Given the description of an element on the screen output the (x, y) to click on. 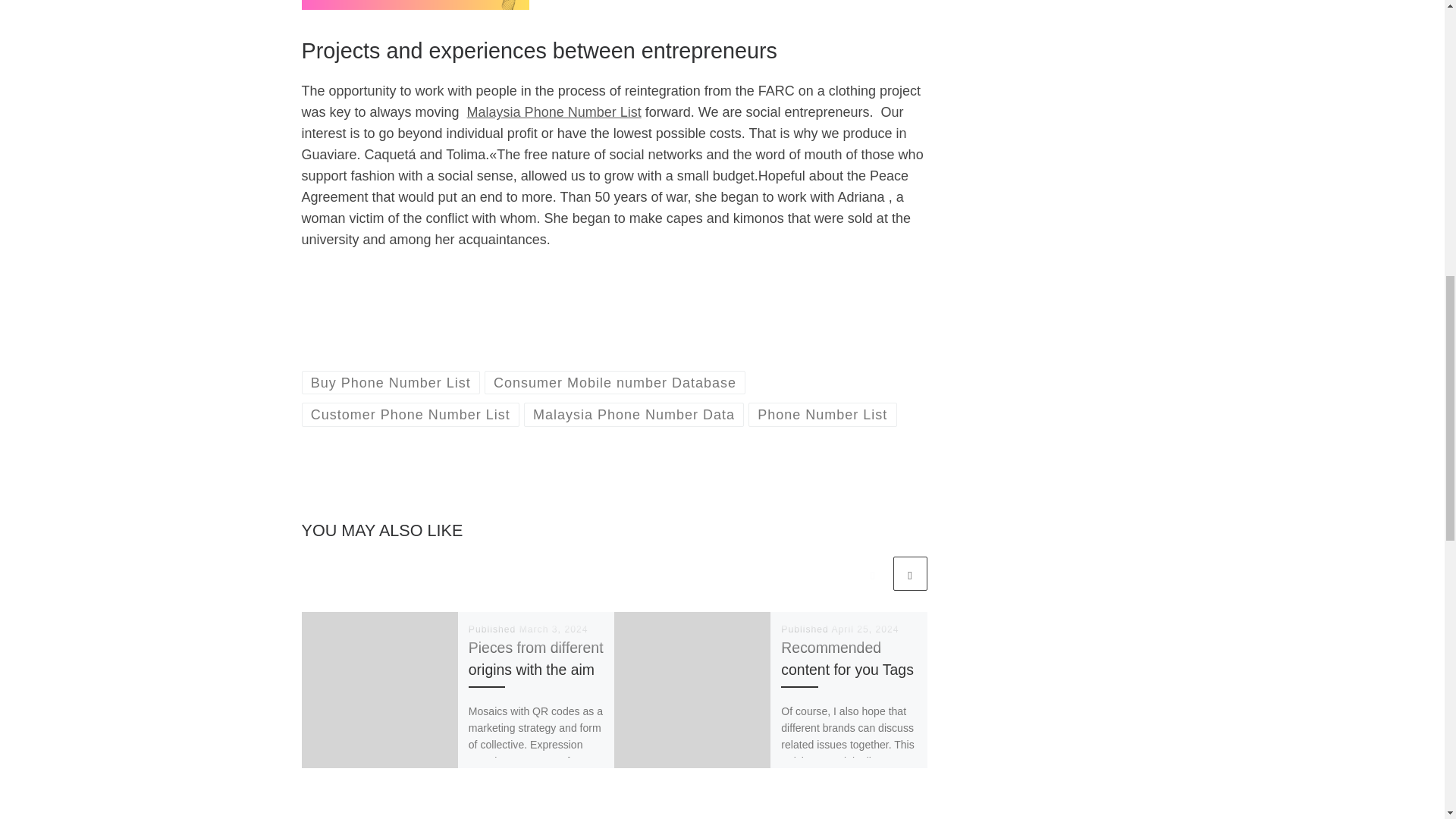
Malaysia Phone Number Data (634, 413)
Next related articles (910, 573)
View all posts in Malaysia Phone Number Data (634, 413)
View all posts in Consumer Mobile number Database (614, 382)
Customer Phone Number List (410, 413)
Previous related articles (872, 573)
Malaysia Phone Number List (554, 111)
April 25, 2024 (864, 629)
Buy Phone Number List (390, 382)
View all posts in Phone Number List (822, 413)
View all posts in Buy Phone Number List (390, 382)
March 3, 2024 (553, 629)
Recommended content for you Tags (847, 658)
Pieces from different origins with the aim (536, 658)
